Given the description of an element on the screen output the (x, y) to click on. 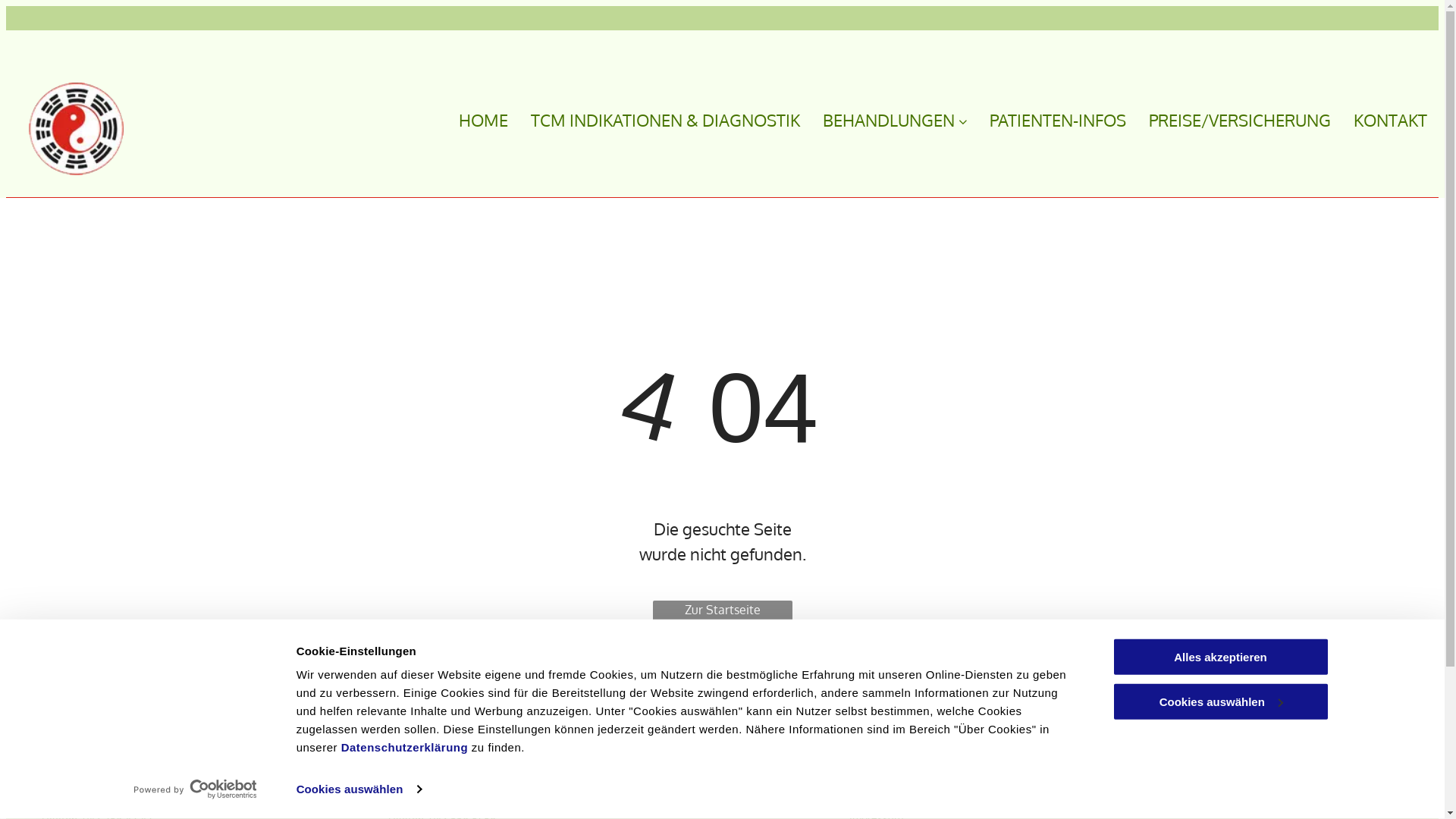
HOME Element type: text (472, 119)
BEHANDLUNGEN Element type: text (883, 119)
KONTAKT Element type: text (1378, 119)
Zur Startseite Element type: text (721, 614)
TCM Fachverband Element type: text (892, 752)
Alles akzeptieren Element type: text (1219, 656)
PREISE/VERSICHERUNG Element type: text (1228, 119)
PATIENTEN-INFOS Element type: text (1046, 119)
TCM INDIKATIONEN & DIAGNOSTIK Element type: text (654, 119)
